Given the description of an element on the screen output the (x, y) to click on. 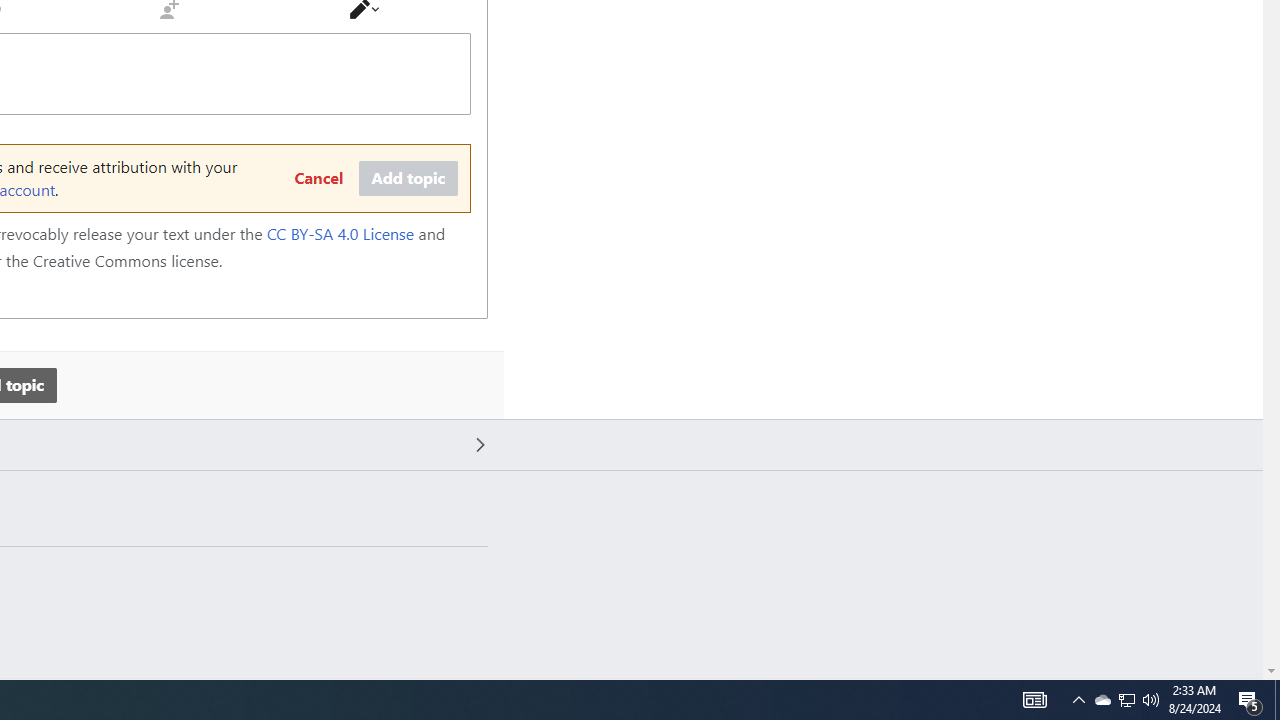
Add topic (408, 179)
CC BY-SA 4.0 License (340, 233)
Cancel (318, 179)
